Given the description of an element on the screen output the (x, y) to click on. 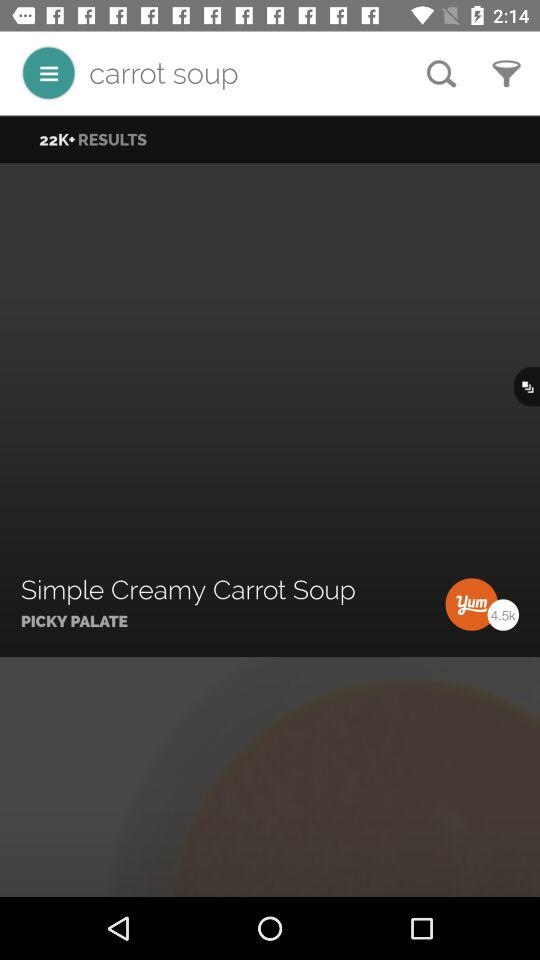
choose the icon next to the carrot soup icon (48, 72)
